Given the description of an element on the screen output the (x, y) to click on. 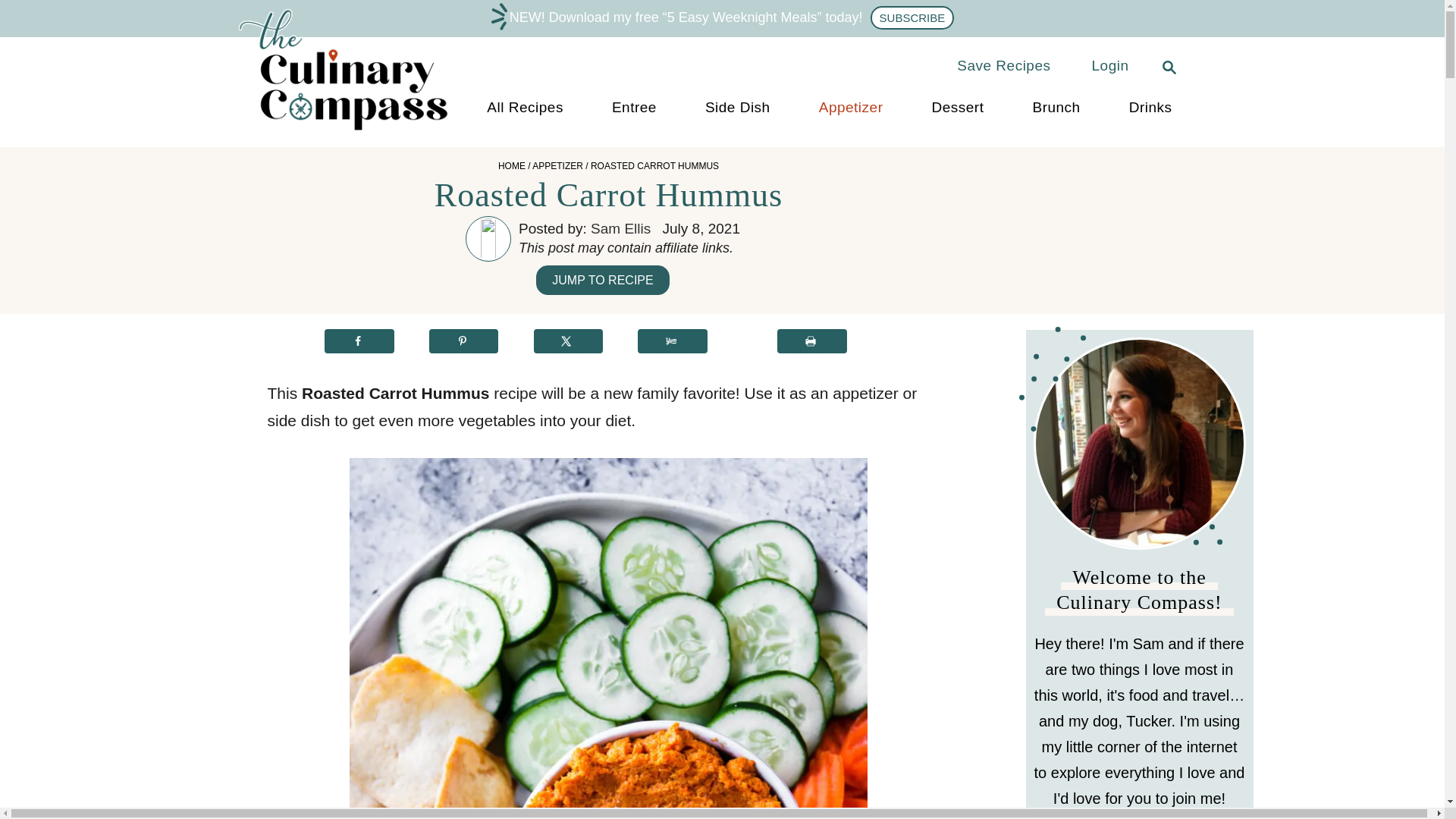
Share on Yummly (672, 340)
SUBSCRIBE (912, 17)
The Culinary Compass (357, 130)
Entree (634, 107)
Share on Facebook (359, 340)
Dessert (957, 107)
Appetizer (850, 107)
HOME (511, 165)
Share on X (569, 340)
APPETIZER (557, 165)
All Recipes (524, 107)
Save to Pinterest (464, 340)
SEARCH (1164, 65)
Save Recipes (1003, 65)
Print this webpage (812, 340)
